Given the description of an element on the screen output the (x, y) to click on. 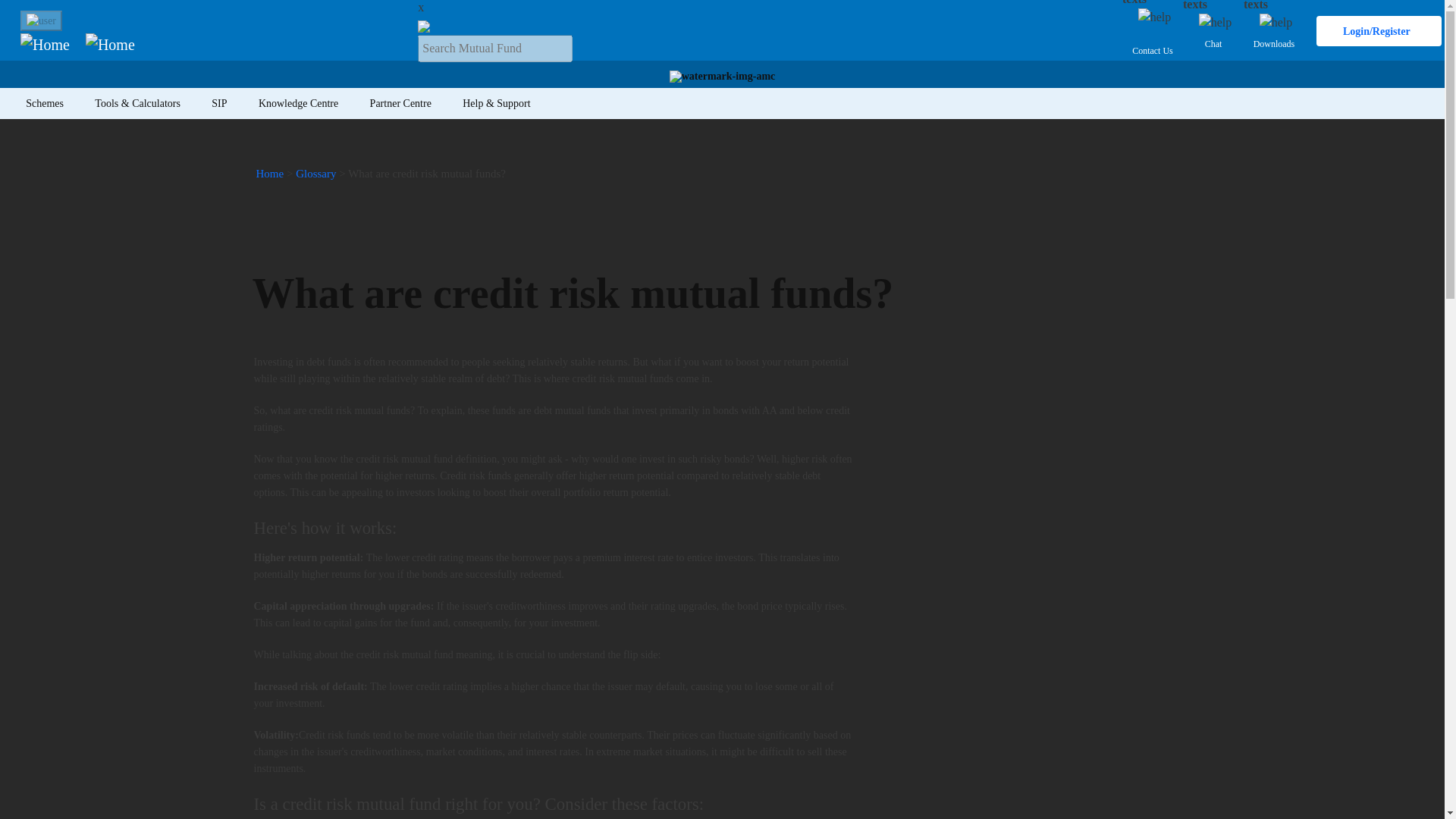
Schemes (44, 102)
SIP (219, 102)
Close Overlay (420, 6)
